Given the description of an element on the screen output the (x, y) to click on. 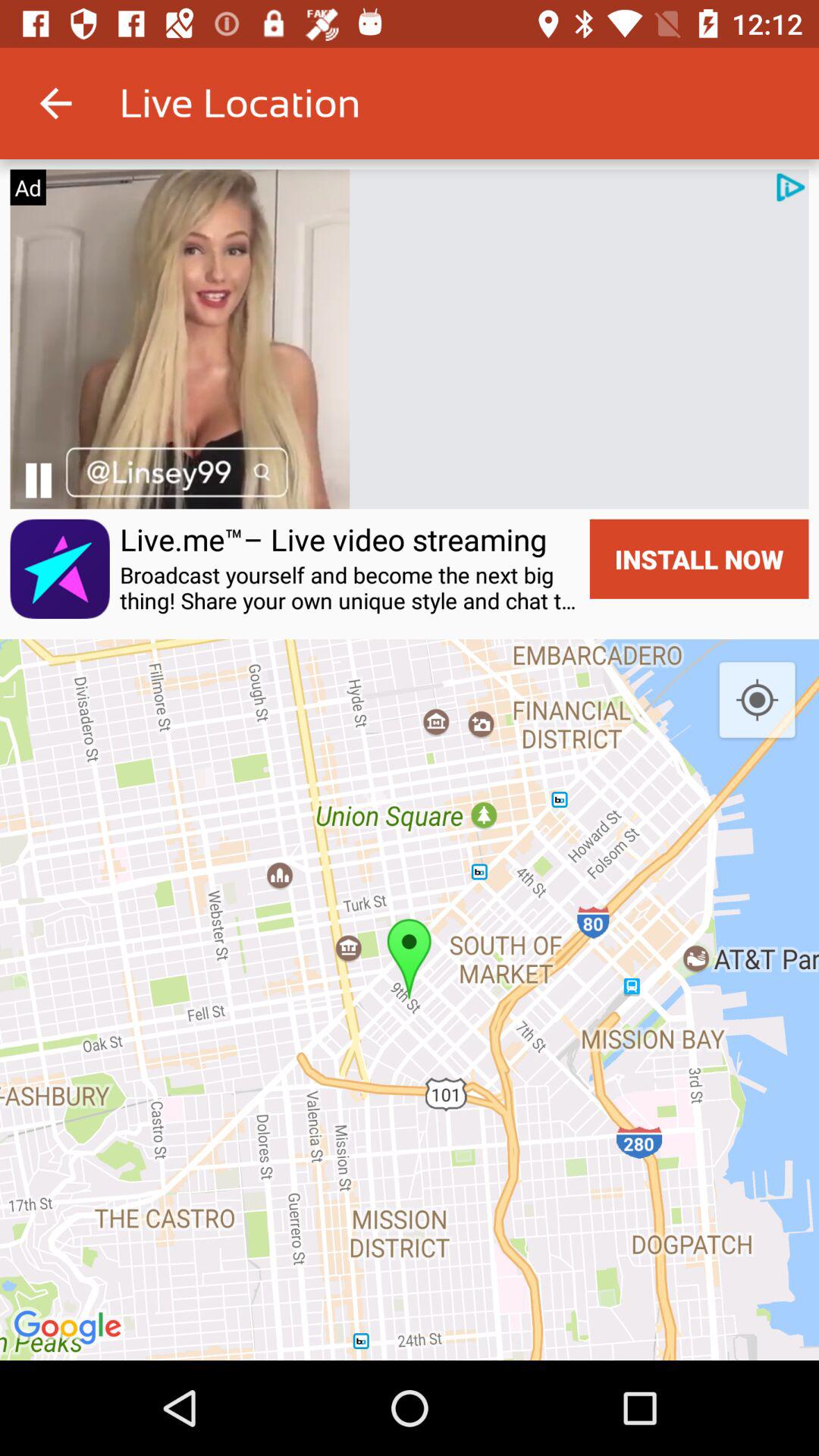
choose item next to the broadcast yourself and item (698, 558)
